Given the description of an element on the screen output the (x, y) to click on. 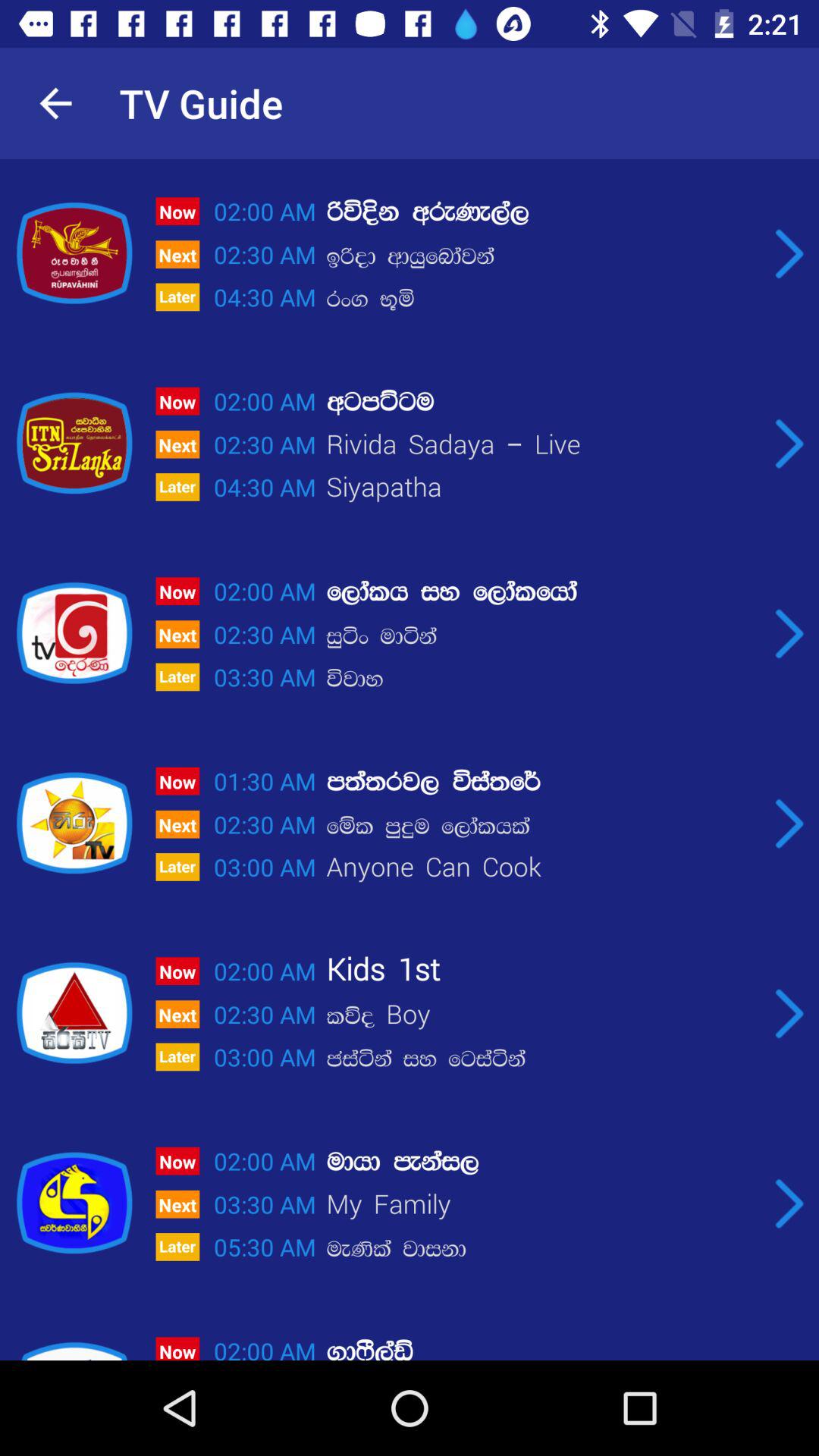
select item next to 02:30 am item (542, 256)
